Given the description of an element on the screen output the (x, y) to click on. 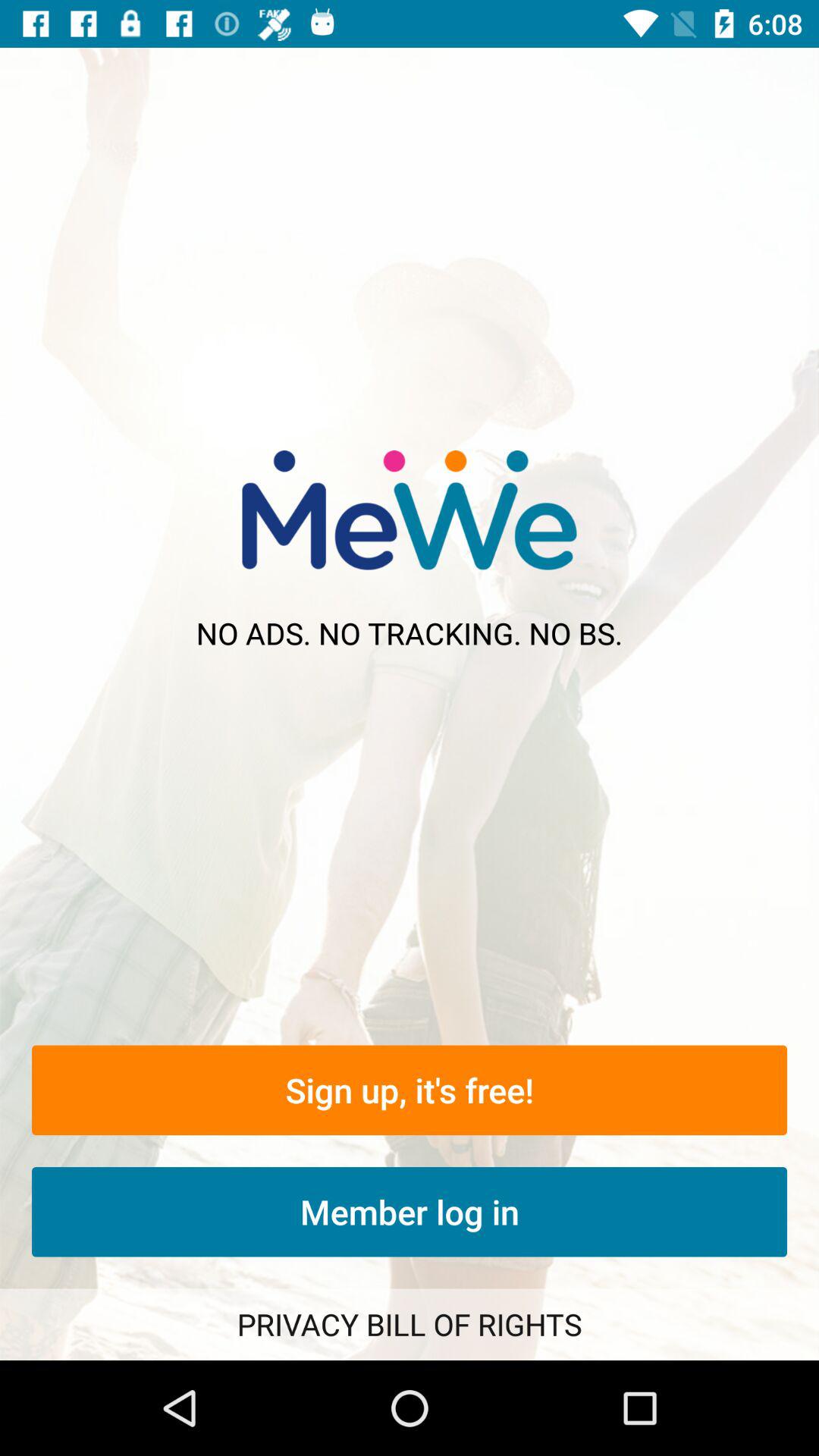
launch the member log in item (409, 1211)
